Given the description of an element on the screen output the (x, y) to click on. 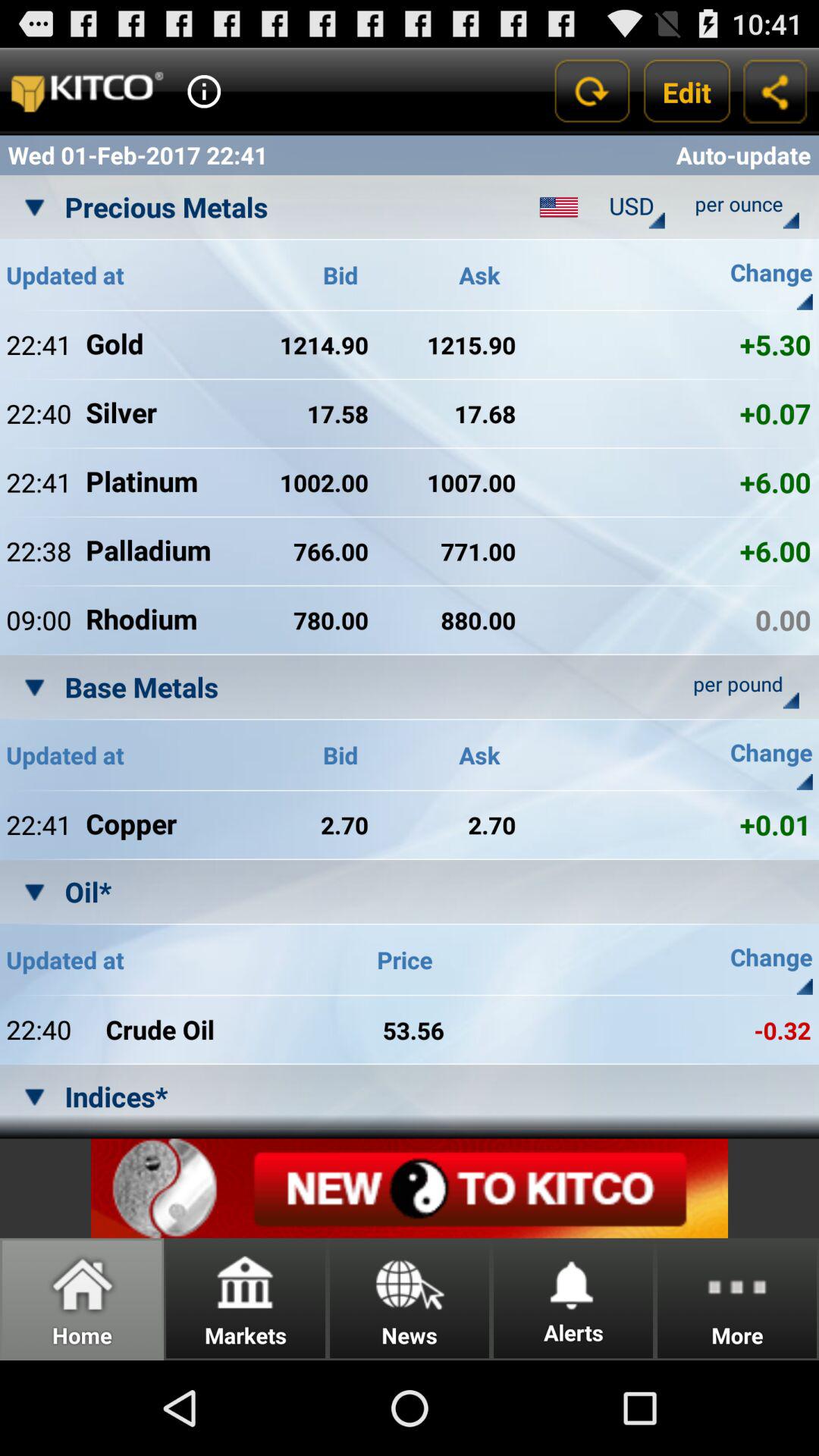
i (204, 91)
